Given the description of an element on the screen output the (x, y) to click on. 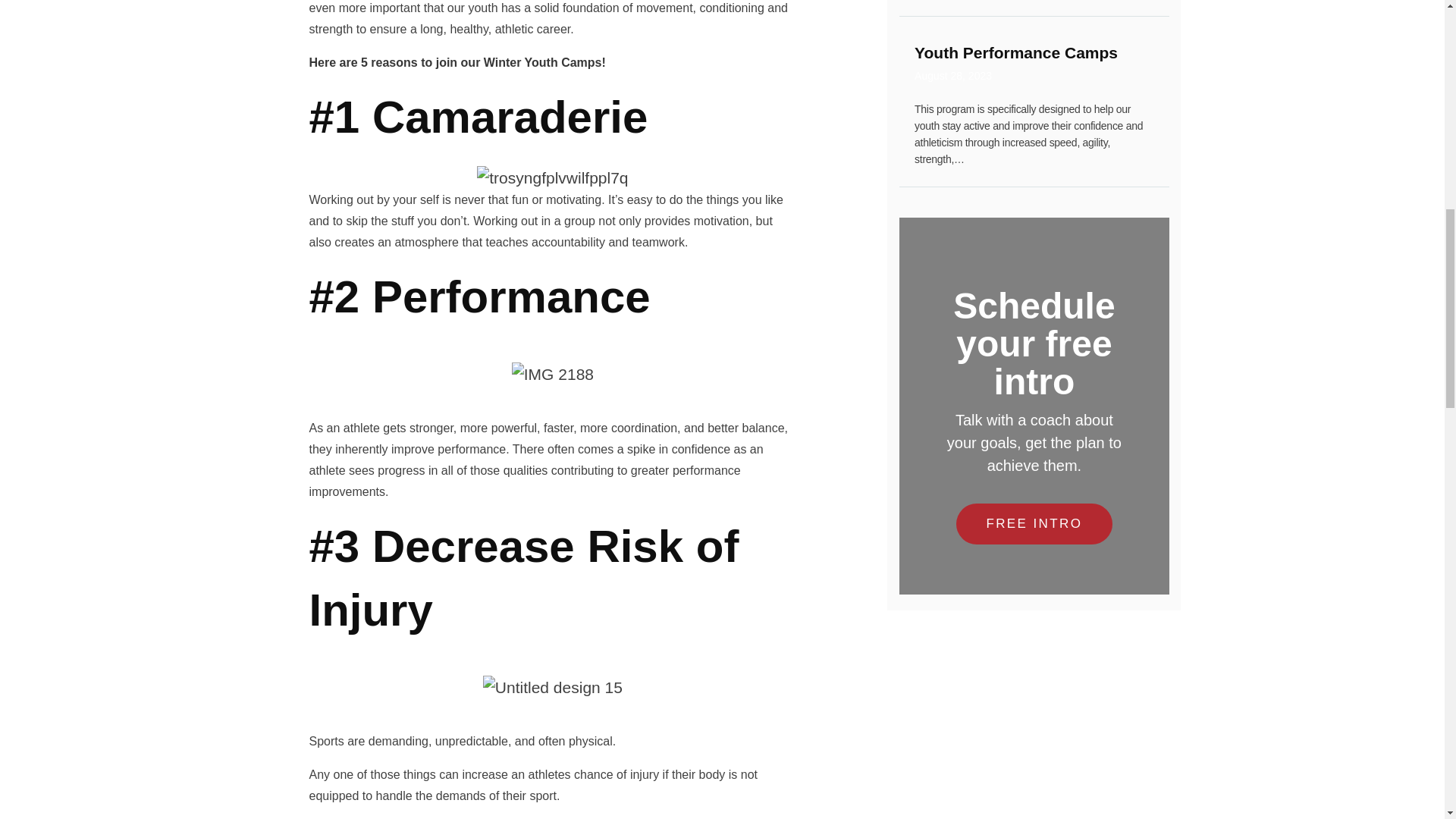
5 Reasons your kids are going to love our Youth Camps! 3 (553, 687)
5 Reasons your kids are going to love our Youth Camps! 1 (552, 178)
5 Reasons your kids are going to love our Youth Camps! 2 (1034, 64)
FREE INTRO (553, 374)
